Given the description of an element on the screen output the (x, y) to click on. 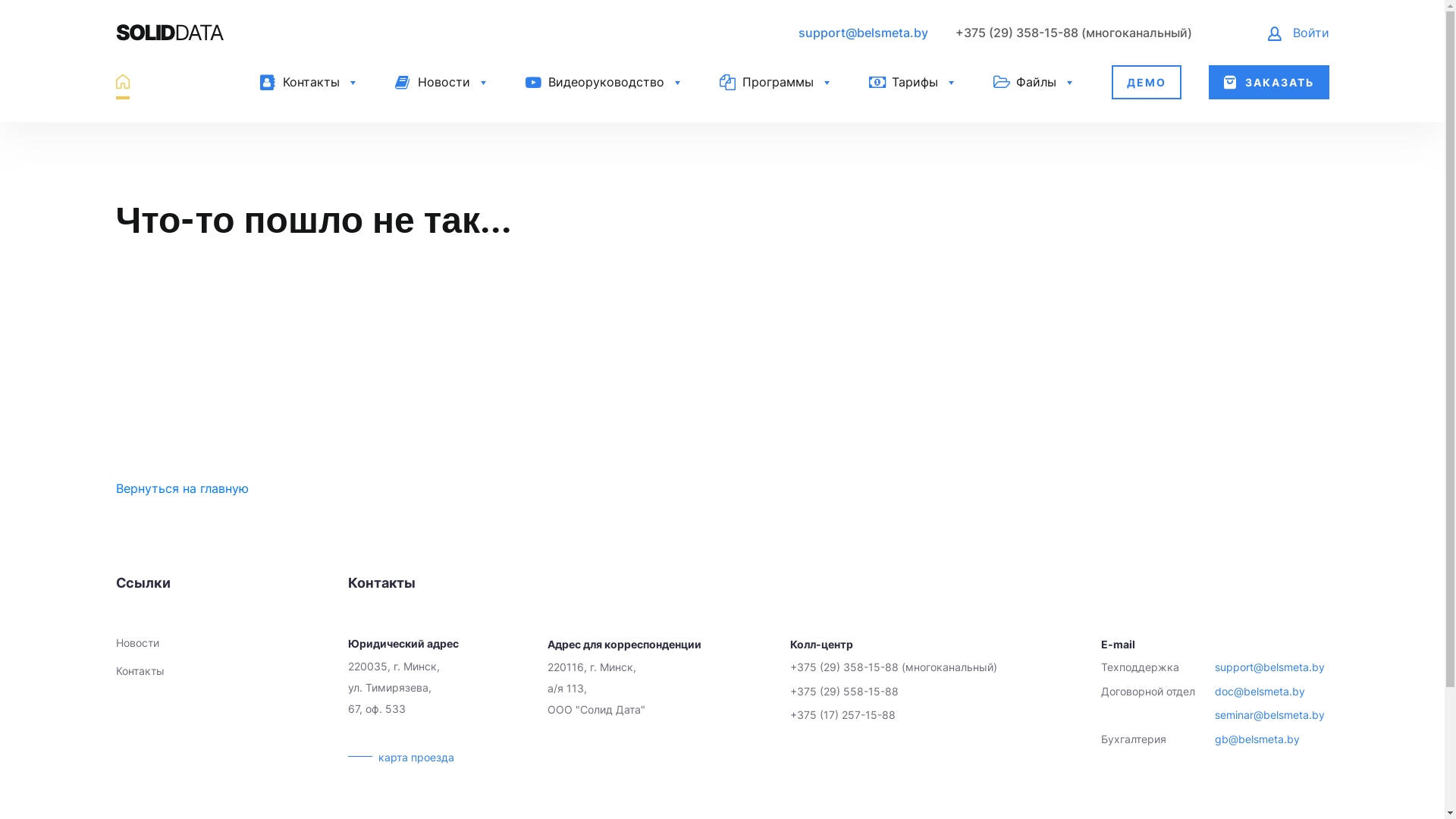
doc@belsmeta.by Element type: text (1271, 691)
gb@belsmeta.by Element type: text (1271, 739)
seminar@belsmeta.by Element type: text (1271, 715)
support@belsmeta.by Element type: text (1271, 667)
+375 (17) 257-15-88 Element type: text (893, 715)
+375 (29) 558-15-88 Element type: text (893, 691)
support@belsmeta.by Element type: text (862, 32)
